Given the description of an element on the screen output the (x, y) to click on. 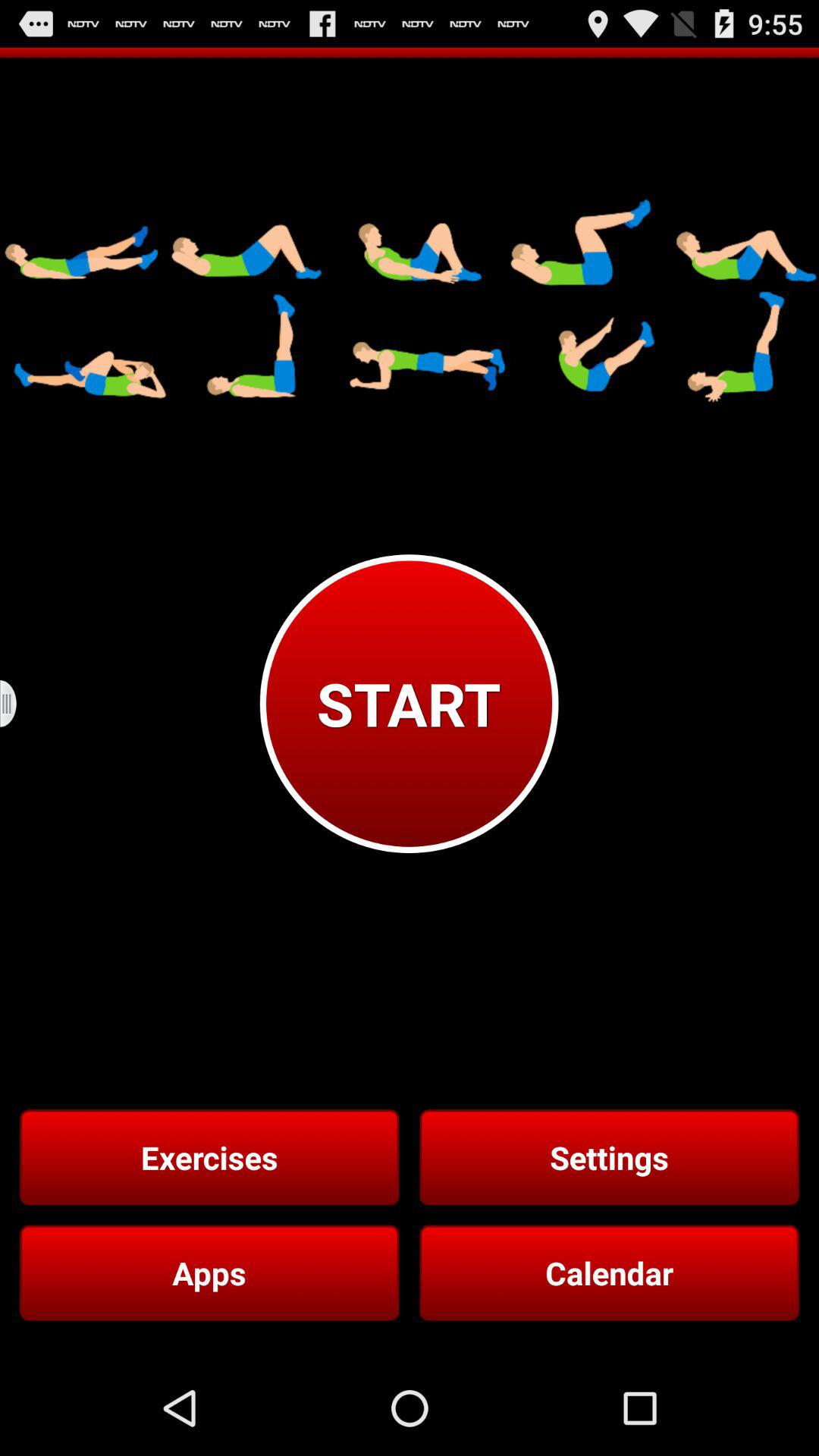
open the icon to the left of the start icon (18, 703)
